Given the description of an element on the screen output the (x, y) to click on. 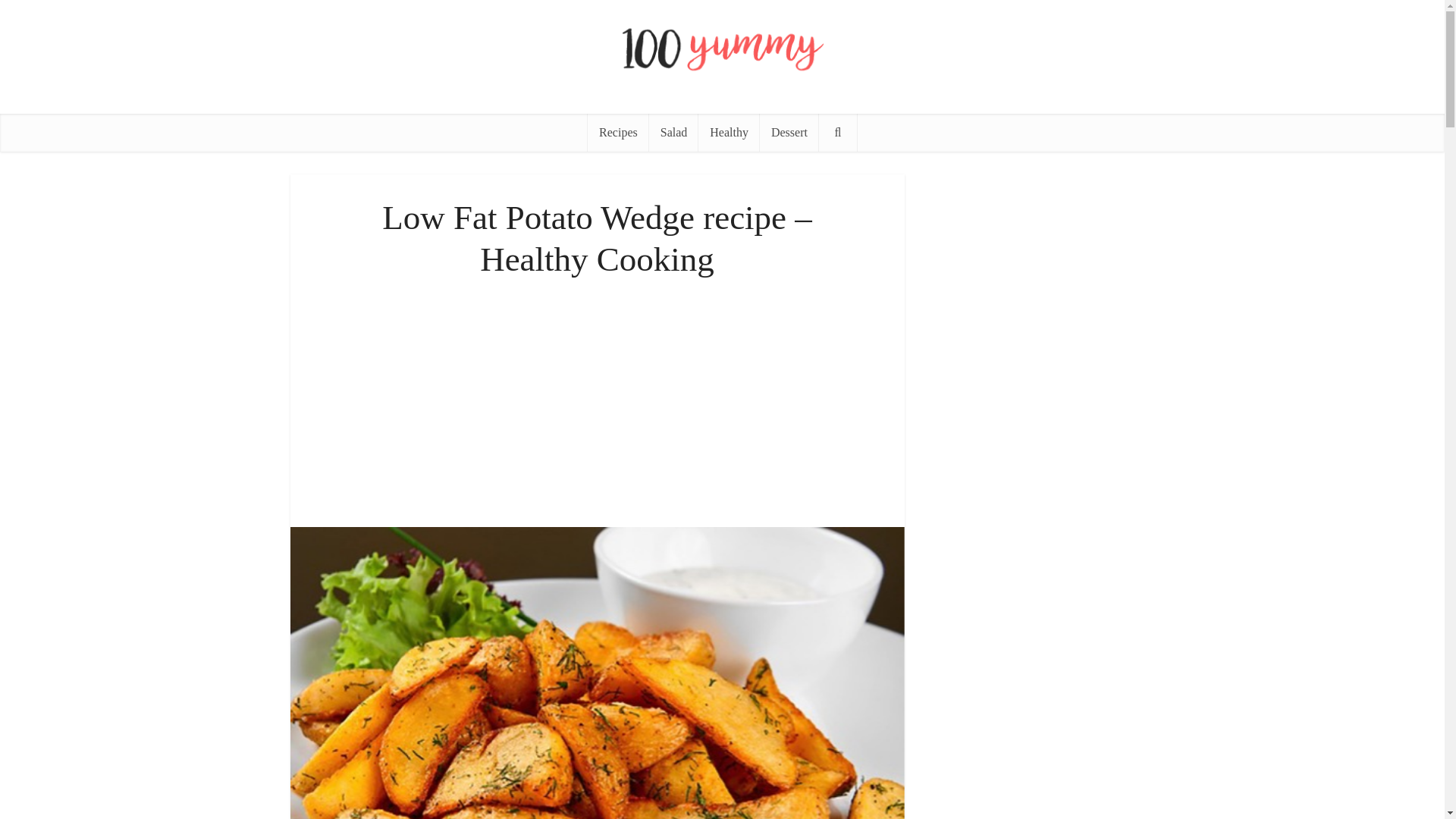
Salad (673, 132)
Healthy (729, 132)
Dessert (789, 132)
Recipes (618, 132)
Advertisement (596, 397)
